Given the description of an element on the screen output the (x, y) to click on. 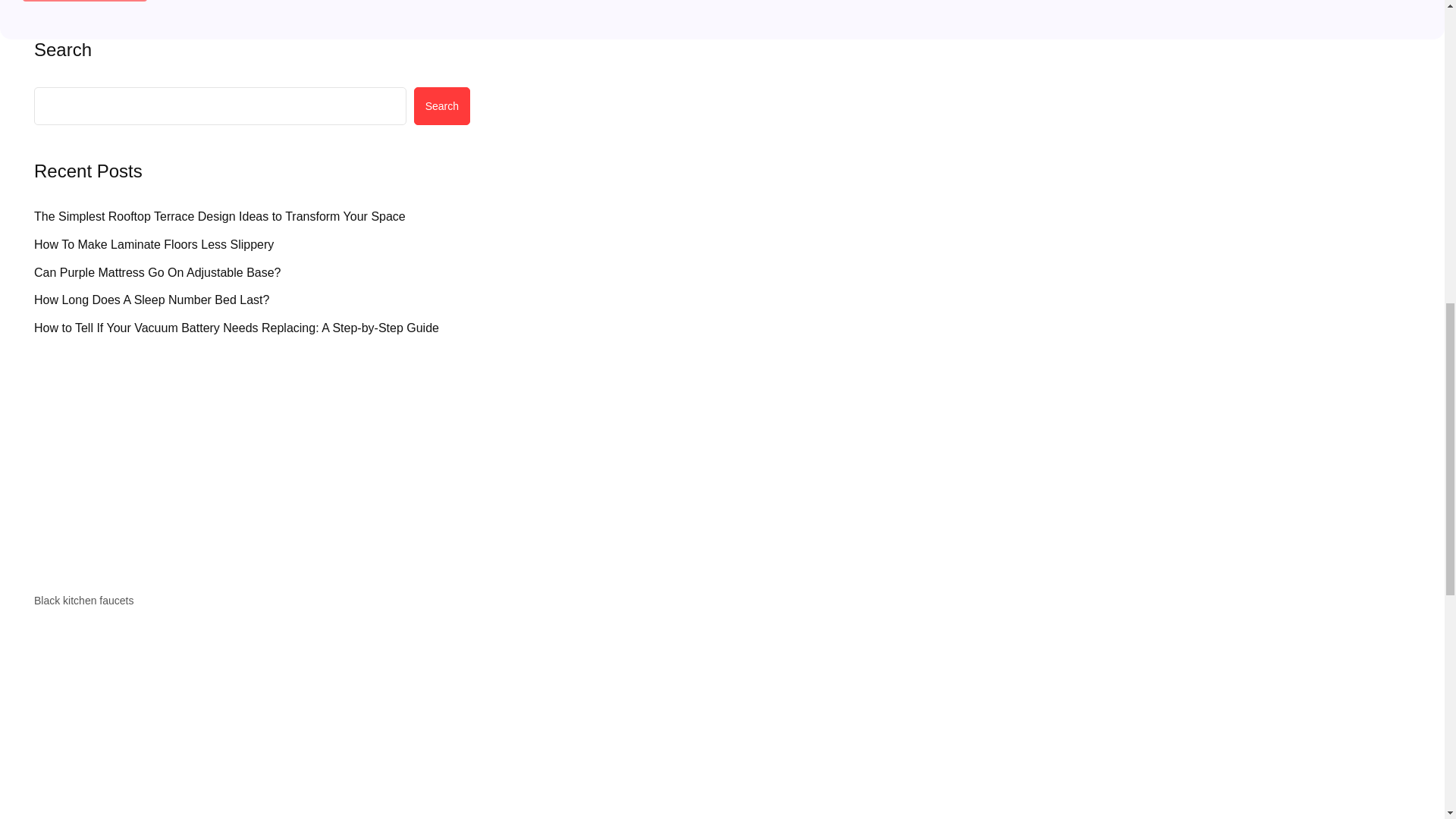
Can Purple Mattress Go On Adjustable Base? (157, 272)
Search (441, 105)
Post Comment (85, 0)
How Long Does A Sleep Number Bed Last? (151, 300)
How To Make Laminate Floors Less Slippery (153, 245)
Post Comment (85, 0)
